Given the description of an element on the screen output the (x, y) to click on. 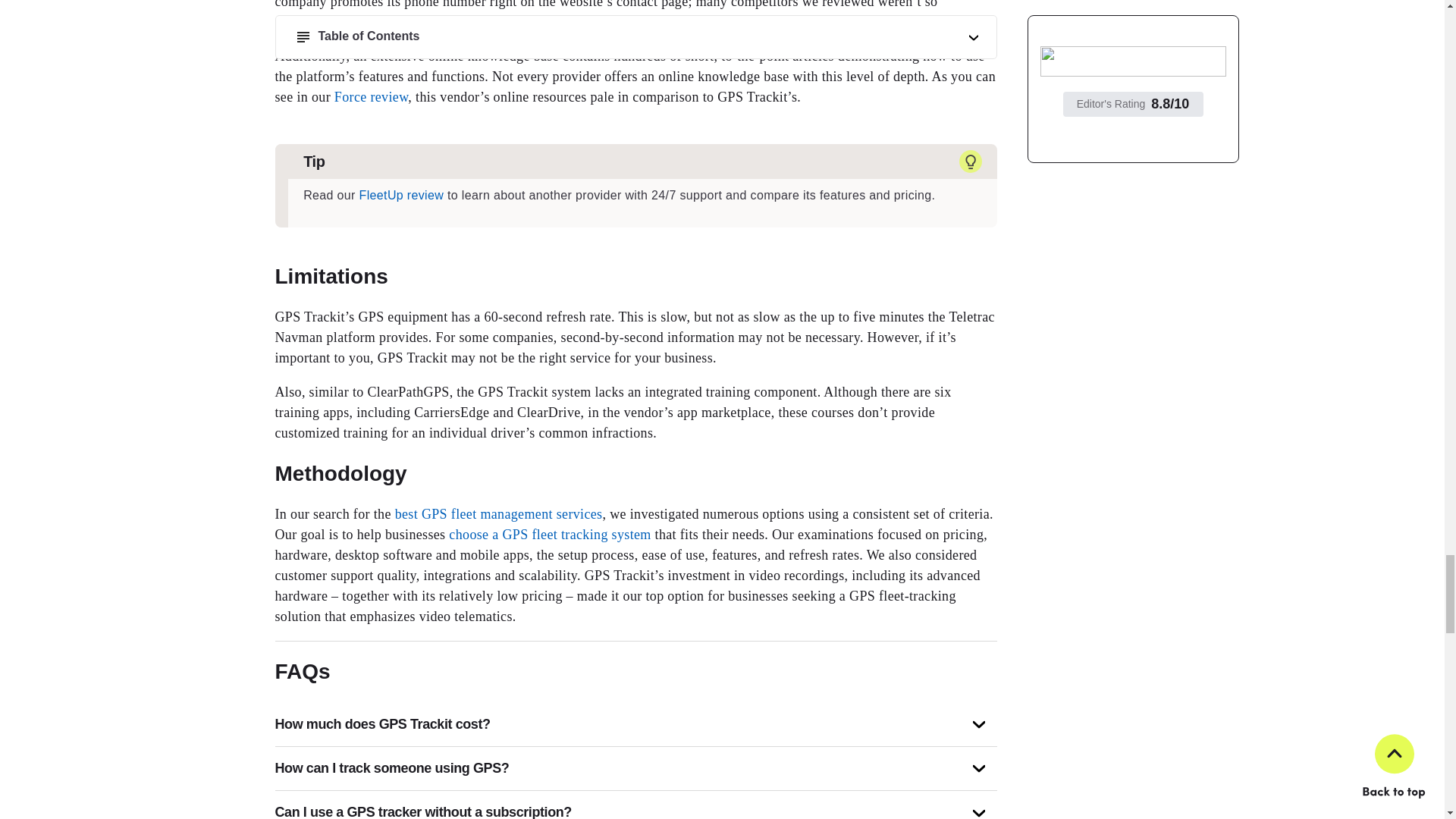
Open row (978, 724)
Open row (978, 768)
Open row (978, 813)
